Given the description of an element on the screen output the (x, y) to click on. 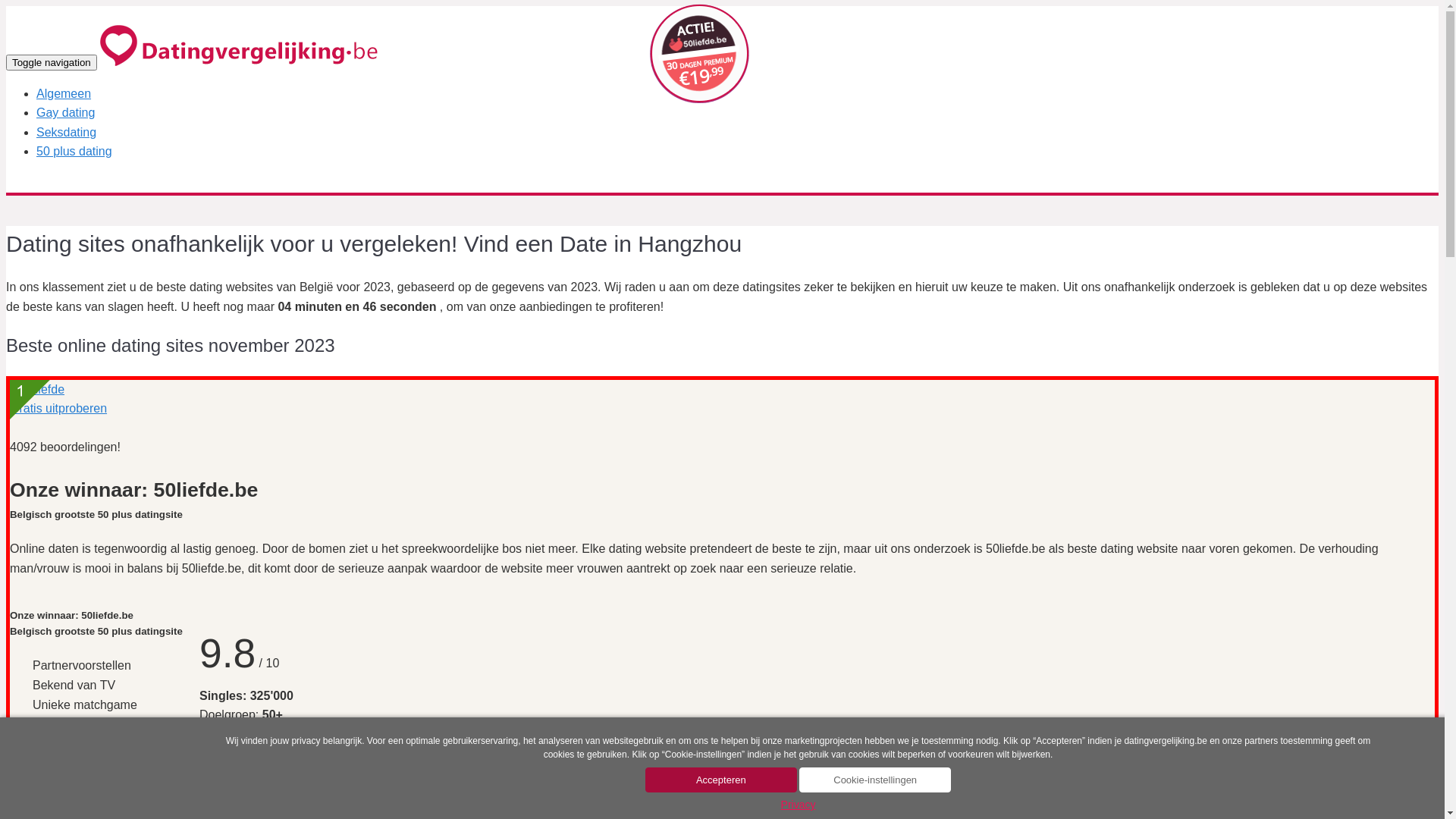
Privacy Element type: text (798, 804)
Gratis uitproberen Element type: text (57, 398)
Algemeen Element type: text (63, 93)
50 plus dating Element type: text (74, 150)
Gratis aanmelden Element type: text (253, 754)
Accepteren Element type: text (721, 780)
Cookie-instellingen Element type: text (874, 780)
Toggle navigation Element type: text (51, 62)
Seksdating Element type: text (66, 131)
Gay dating Element type: text (65, 112)
